Given the description of an element on the screen output the (x, y) to click on. 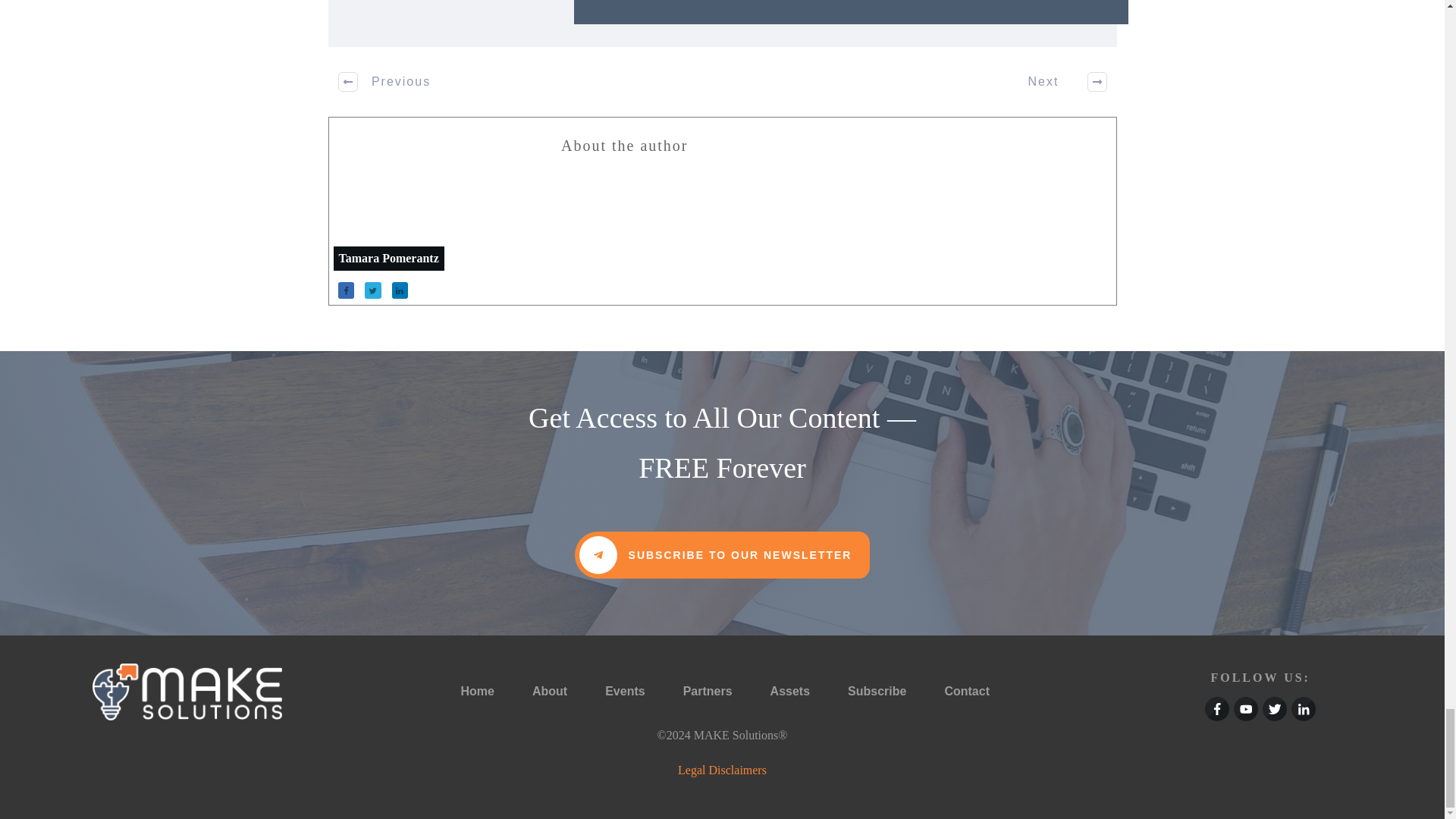
Previous (385, 81)
Next (1059, 81)
